Given the description of an element on the screen output the (x, y) to click on. 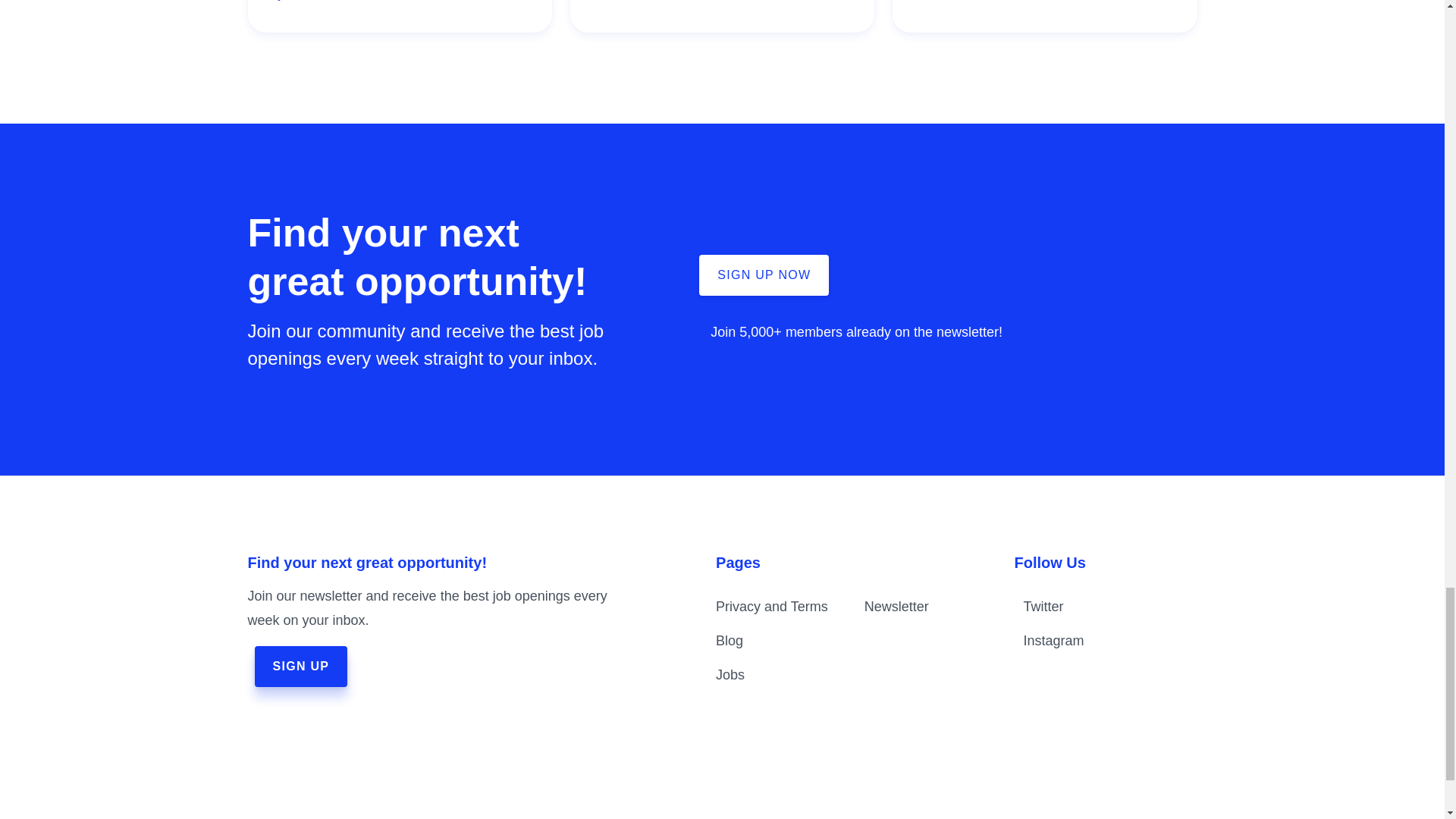
SIGN UP NOW (763, 274)
Jobs (730, 674)
Instagram (1086, 640)
Blog (729, 640)
SIGN UP (300, 666)
Newsletter (896, 606)
Twitter (1086, 606)
Privacy and Terms (772, 606)
